Given the description of an element on the screen output the (x, y) to click on. 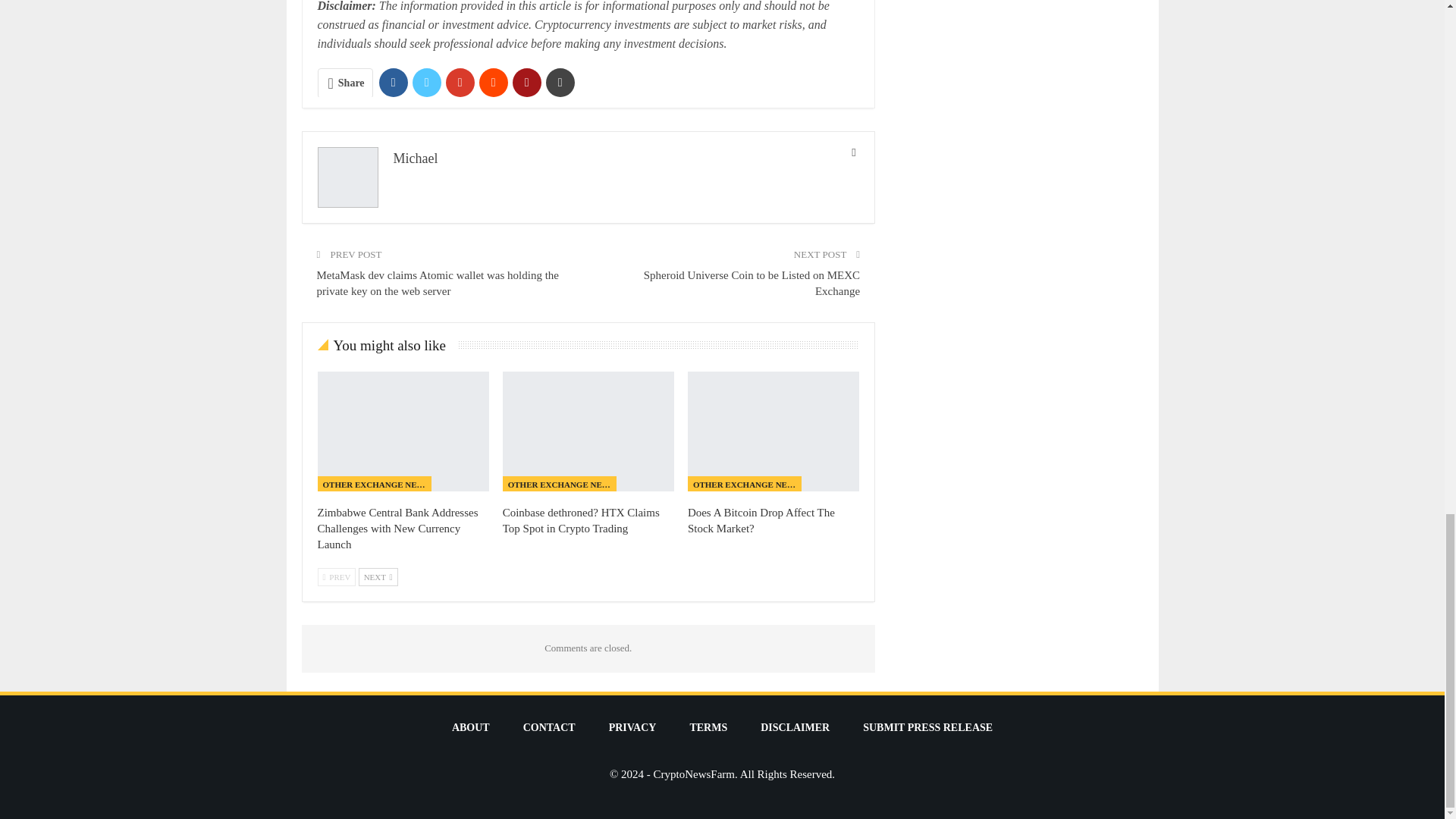
Does A Bitcoin Drop Affect The Stock Market? (773, 431)
Coinbase dethroned? HTX Claims Top Spot in Crypto Trading (580, 520)
Does A Bitcoin Drop Affect The Stock Market? (760, 520)
Coinbase dethroned? HTX Claims Top Spot in Crypto Trading (588, 431)
